Given the description of an element on the screen output the (x, y) to click on. 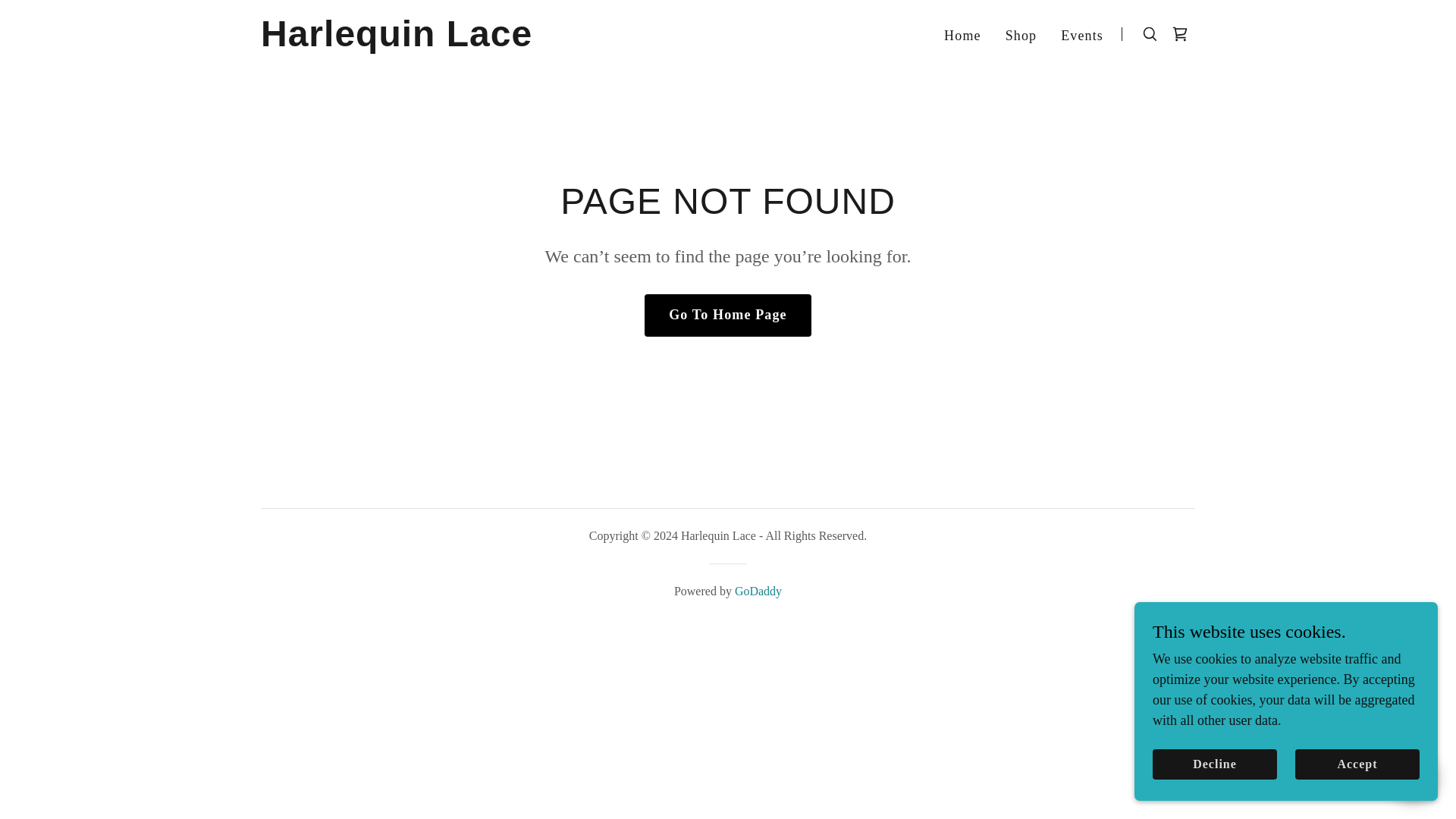
Accept (1357, 764)
Shop (1021, 35)
Decline (1214, 764)
Harlequin Lace (424, 41)
Events (1082, 35)
Harlequin Lace (424, 41)
Go To Home Page (727, 315)
Home (962, 35)
GoDaddy (758, 590)
